Given the description of an element on the screen output the (x, y) to click on. 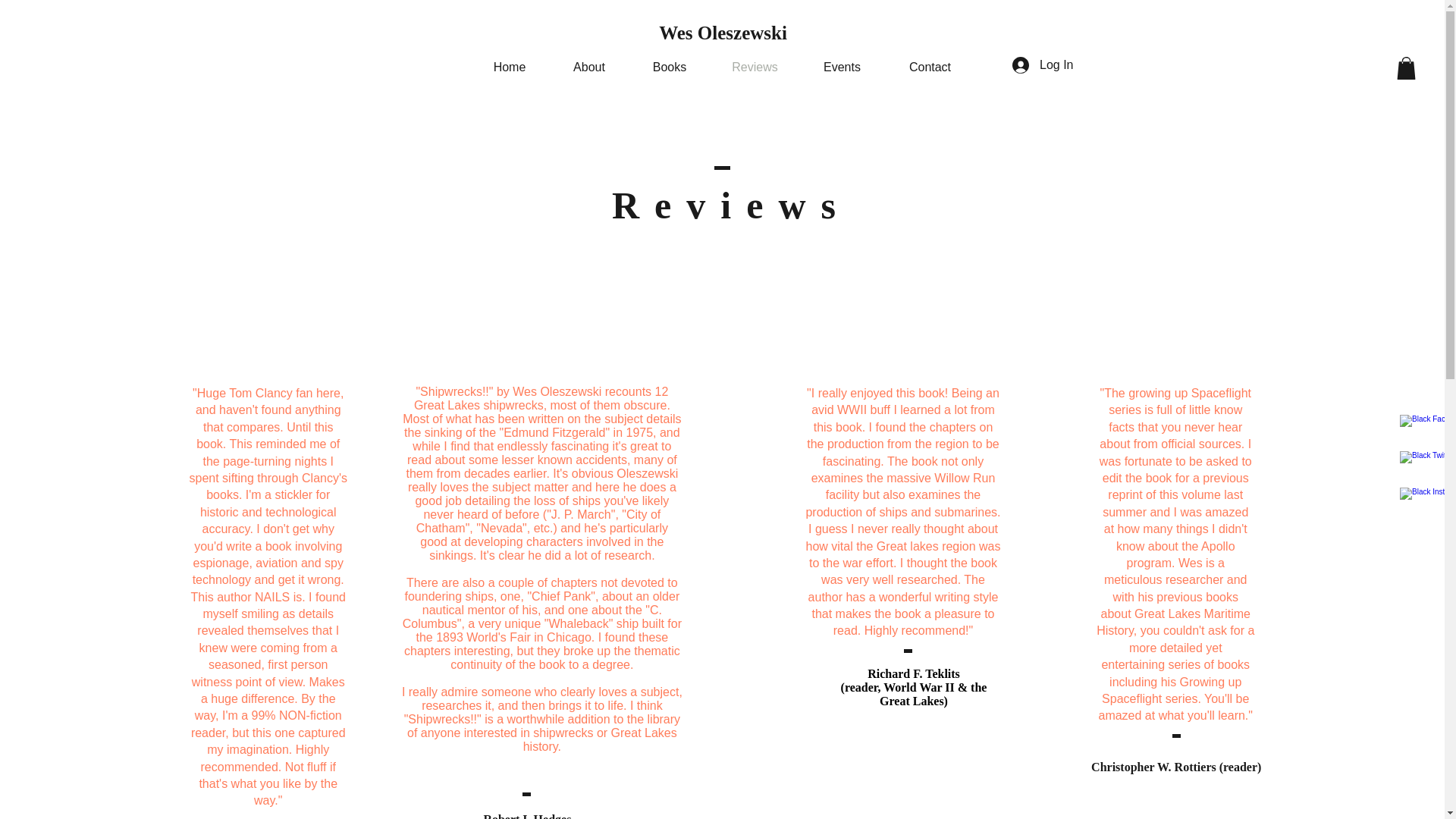
Wes Oleszewski (723, 32)
Events (841, 67)
Reviews (755, 67)
Books (668, 67)
Log In (1042, 64)
About (589, 67)
Home (509, 67)
Contact (929, 67)
